Given the description of an element on the screen output the (x, y) to click on. 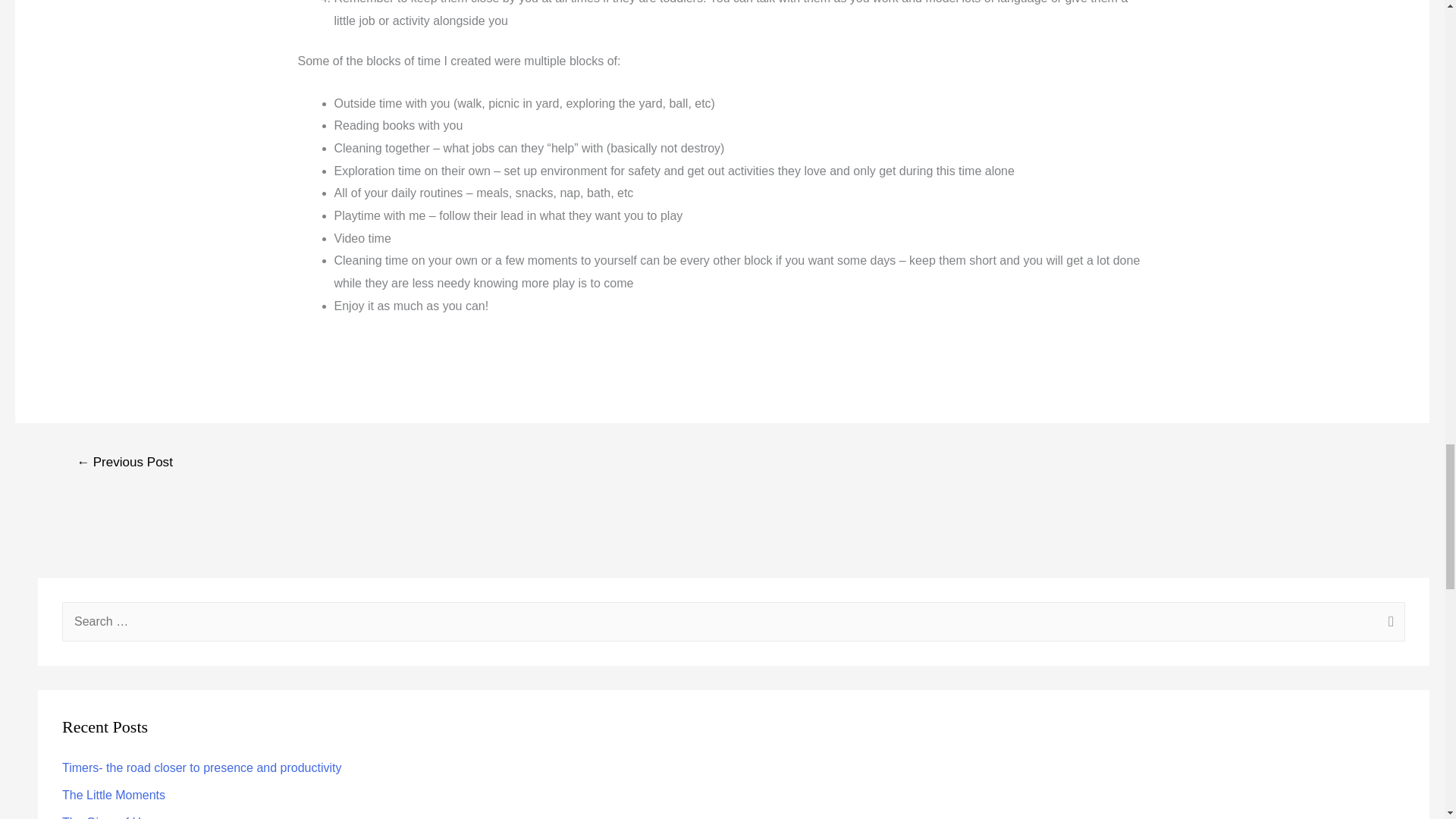
Timers- the road closer to presence and productivity (201, 767)
The Giver of Hope (111, 817)
The Little Moments (113, 794)
